Given the description of an element on the screen output the (x, y) to click on. 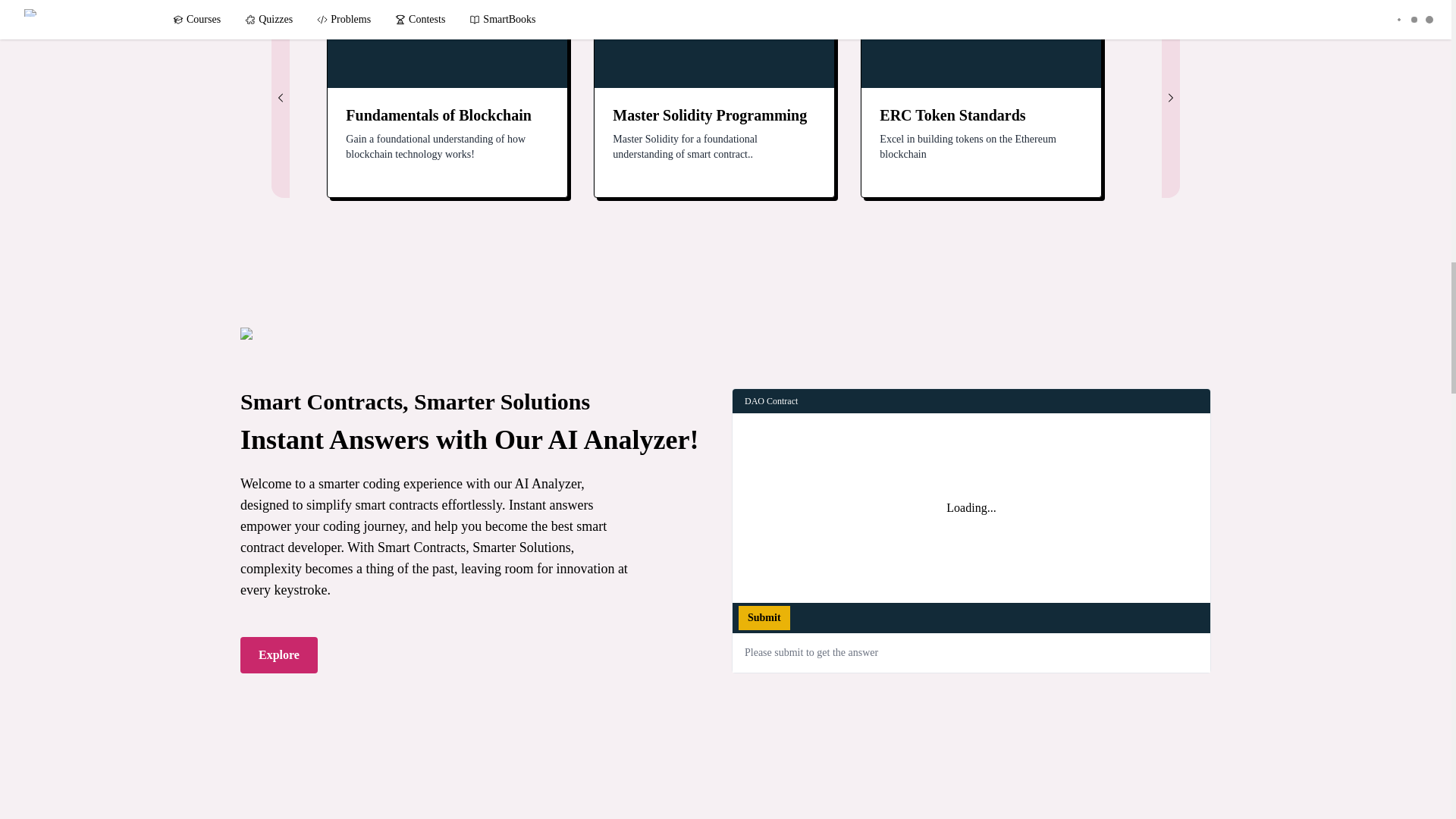
Submit (764, 617)
Explore (278, 655)
